Given the description of an element on the screen output the (x, y) to click on. 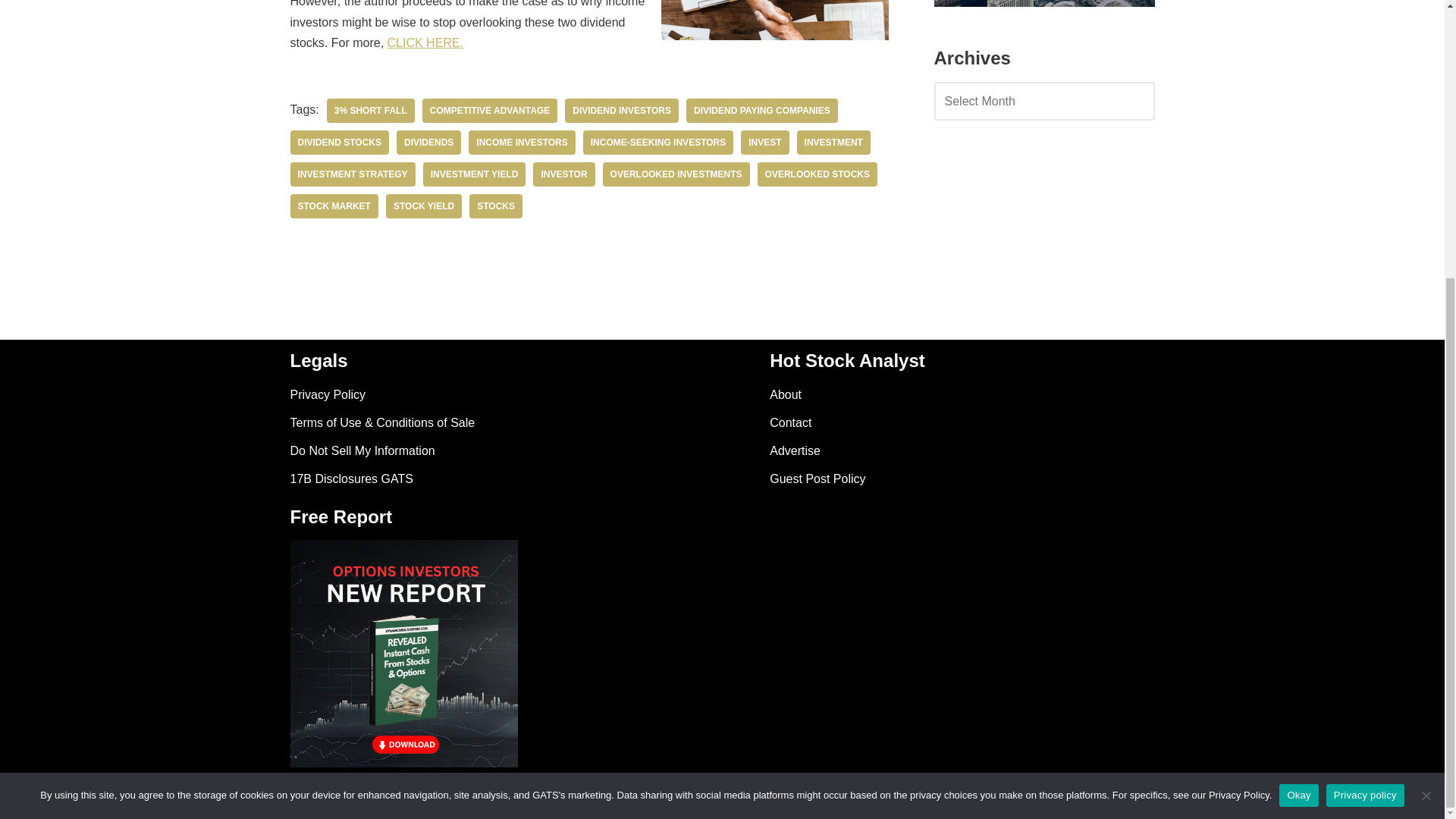
DIVIDEND PAYING COMPANIES (761, 110)
STOCK MARKET (333, 206)
Dividend Investors (621, 110)
DIVIDENDS (428, 142)
About (786, 394)
INVESTOR (563, 174)
INVESTMENT (833, 142)
INCOME-SEEKING INVESTORS (658, 142)
DIVIDEND INVESTORS (621, 110)
STOCKS (495, 206)
